Given the description of an element on the screen output the (x, y) to click on. 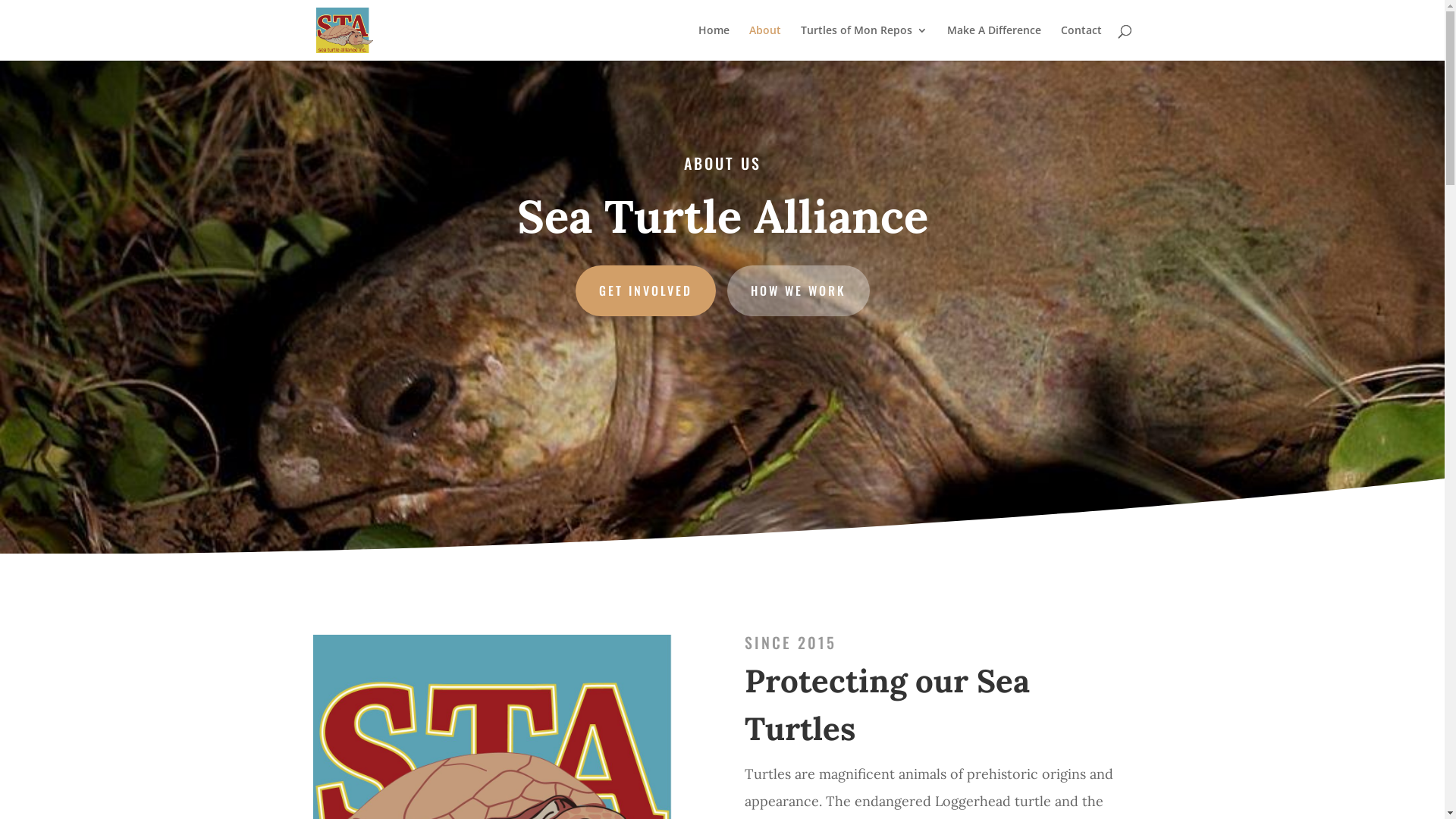
Home Element type: text (712, 42)
About Element type: text (765, 42)
Turtles of Mon Repos Element type: text (863, 42)
GET INVOLVED Element type: text (644, 290)
Make A Difference Element type: text (993, 42)
Contact Element type: text (1080, 42)
HOW WE WORK Element type: text (797, 290)
